Given the description of an element on the screen output the (x, y) to click on. 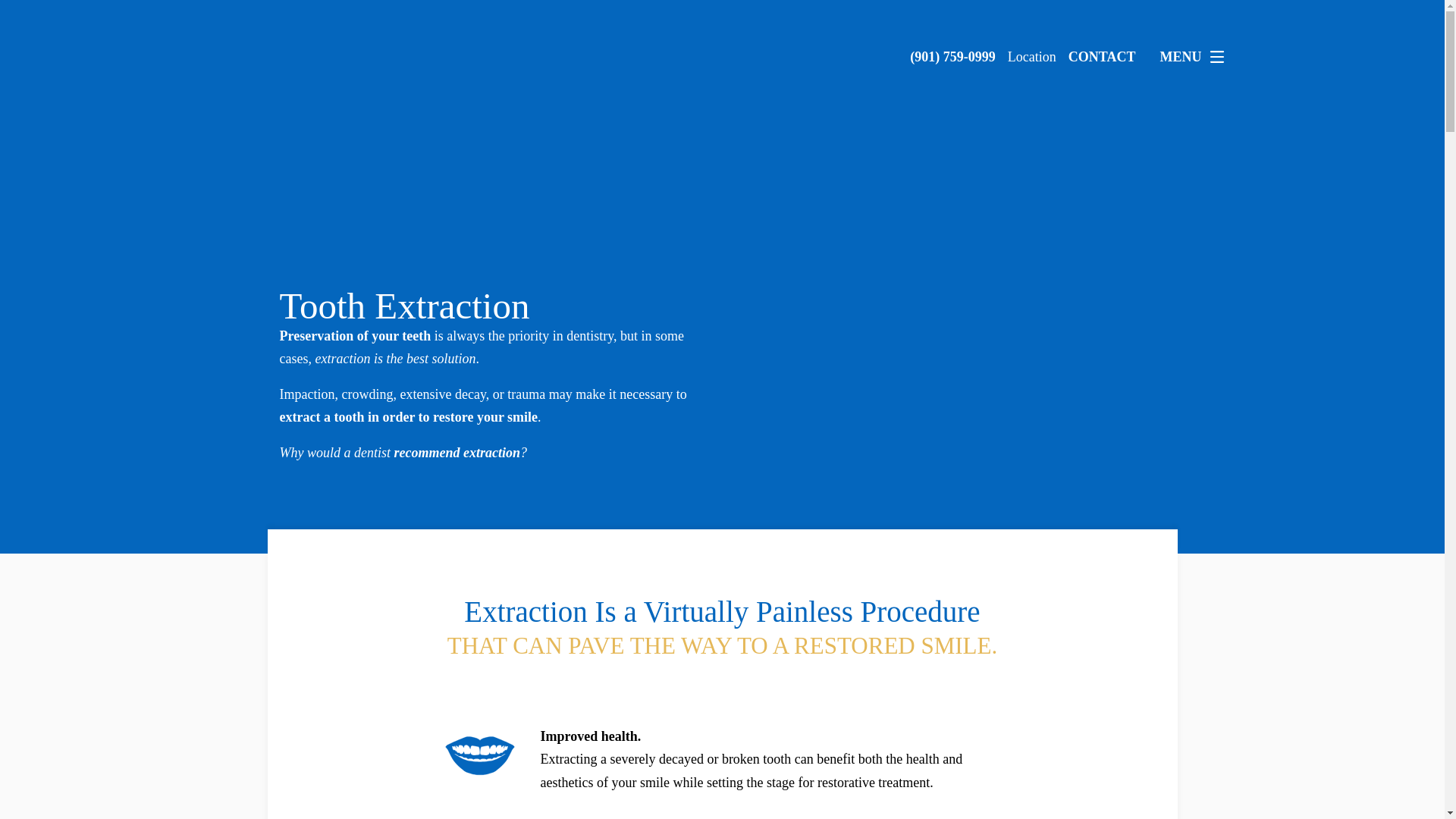
MENU (1195, 56)
CONTACT (1101, 56)
